Given the description of an element on the screen output the (x, y) to click on. 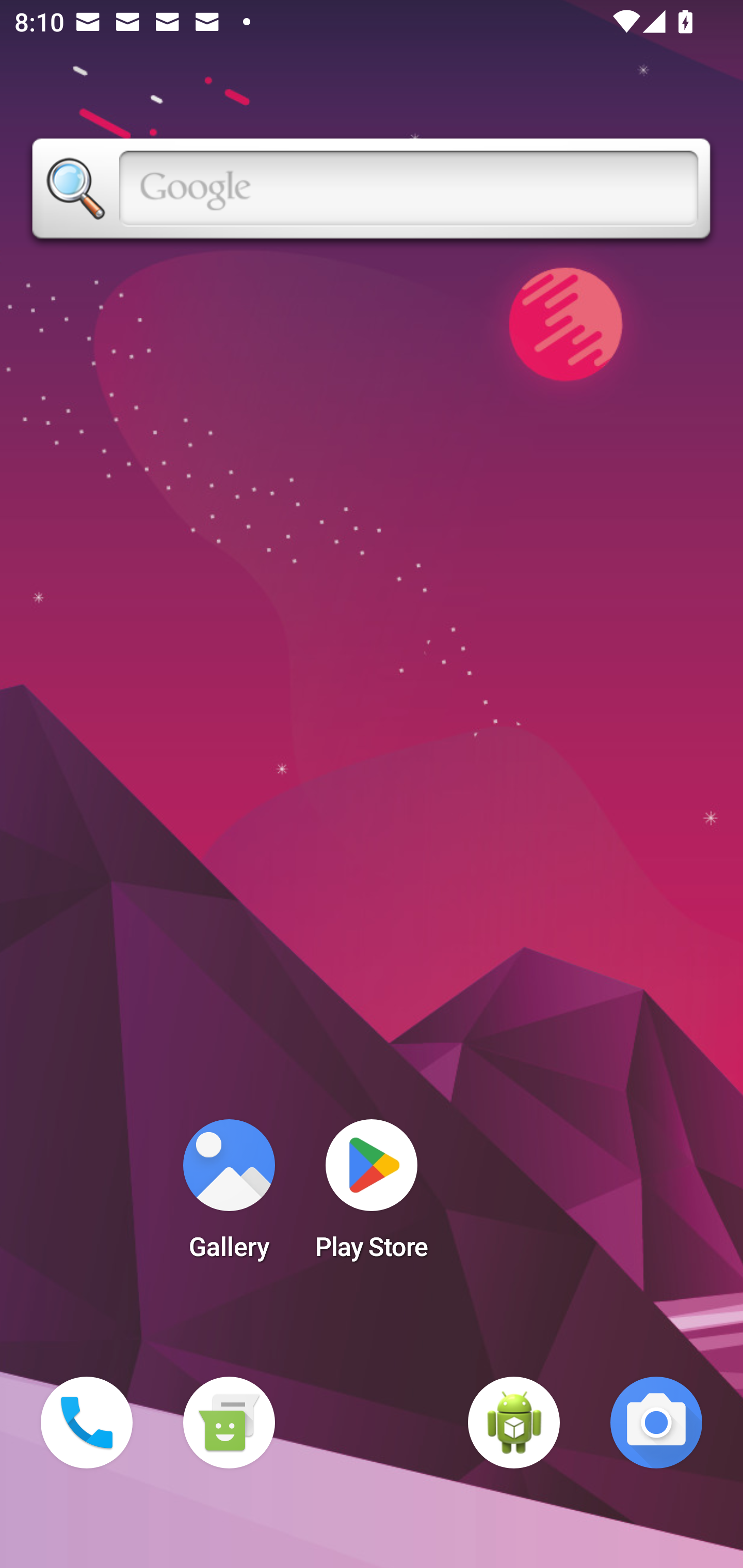
Gallery (228, 1195)
Play Store (371, 1195)
Phone (86, 1422)
Messaging (228, 1422)
WebView Browser Tester (513, 1422)
Camera (656, 1422)
